Given the description of an element on the screen output the (x, y) to click on. 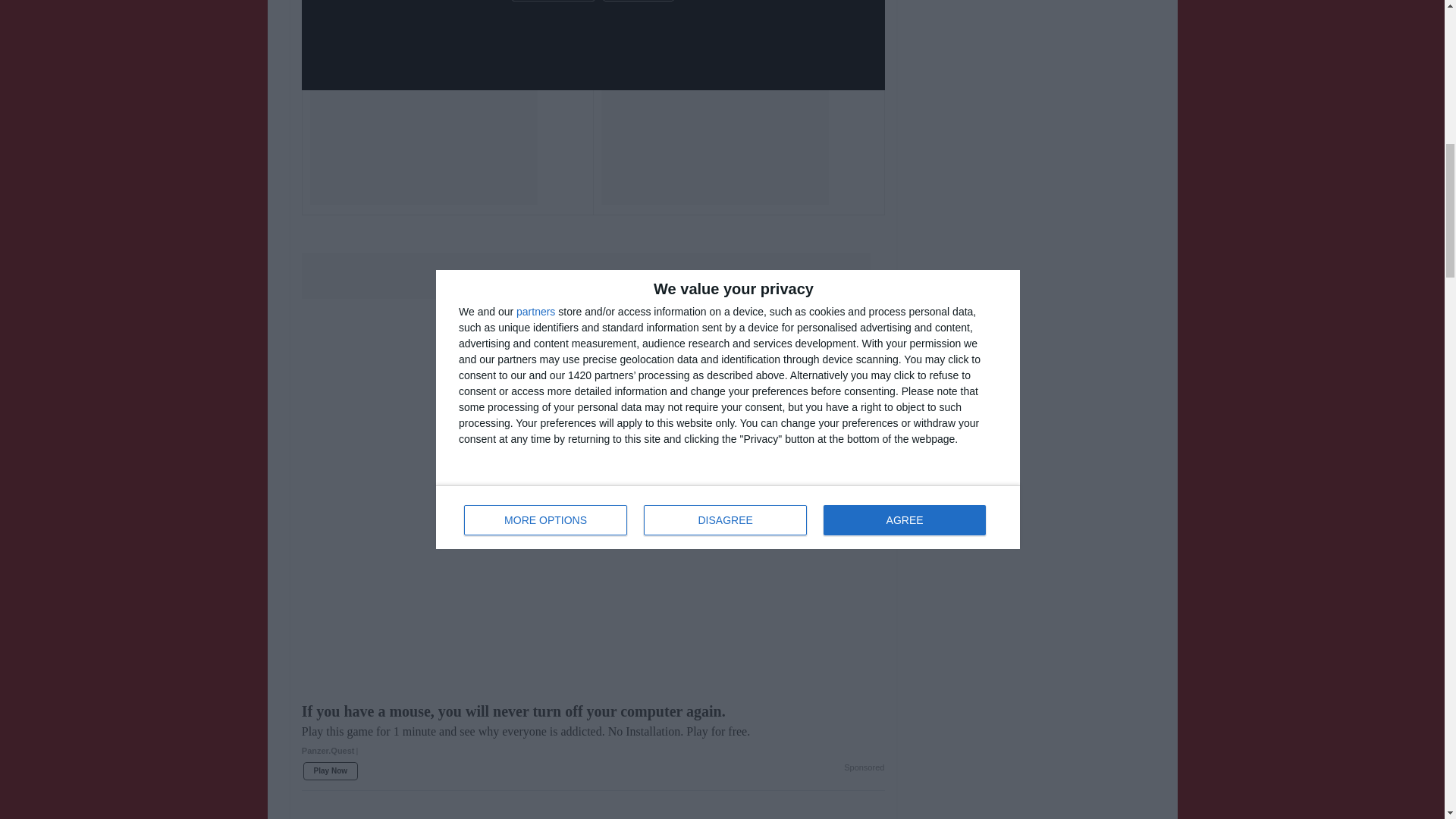
Sponsored (863, 768)
Play Now (330, 771)
